Given the description of an element on the screen output the (x, y) to click on. 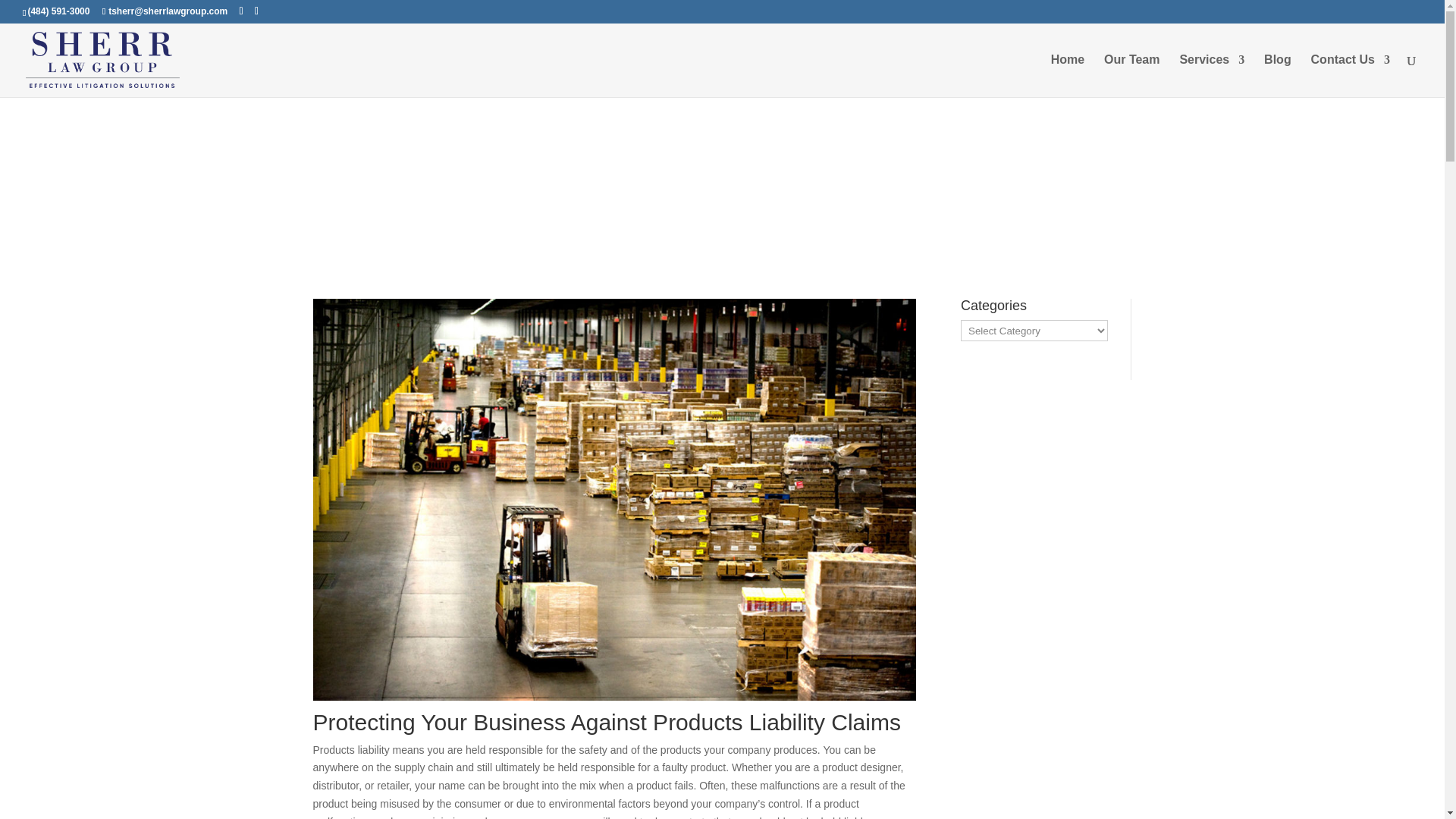
Contact Us (1350, 75)
Our Team (1131, 75)
Services (1211, 75)
